Given the description of an element on the screen output the (x, y) to click on. 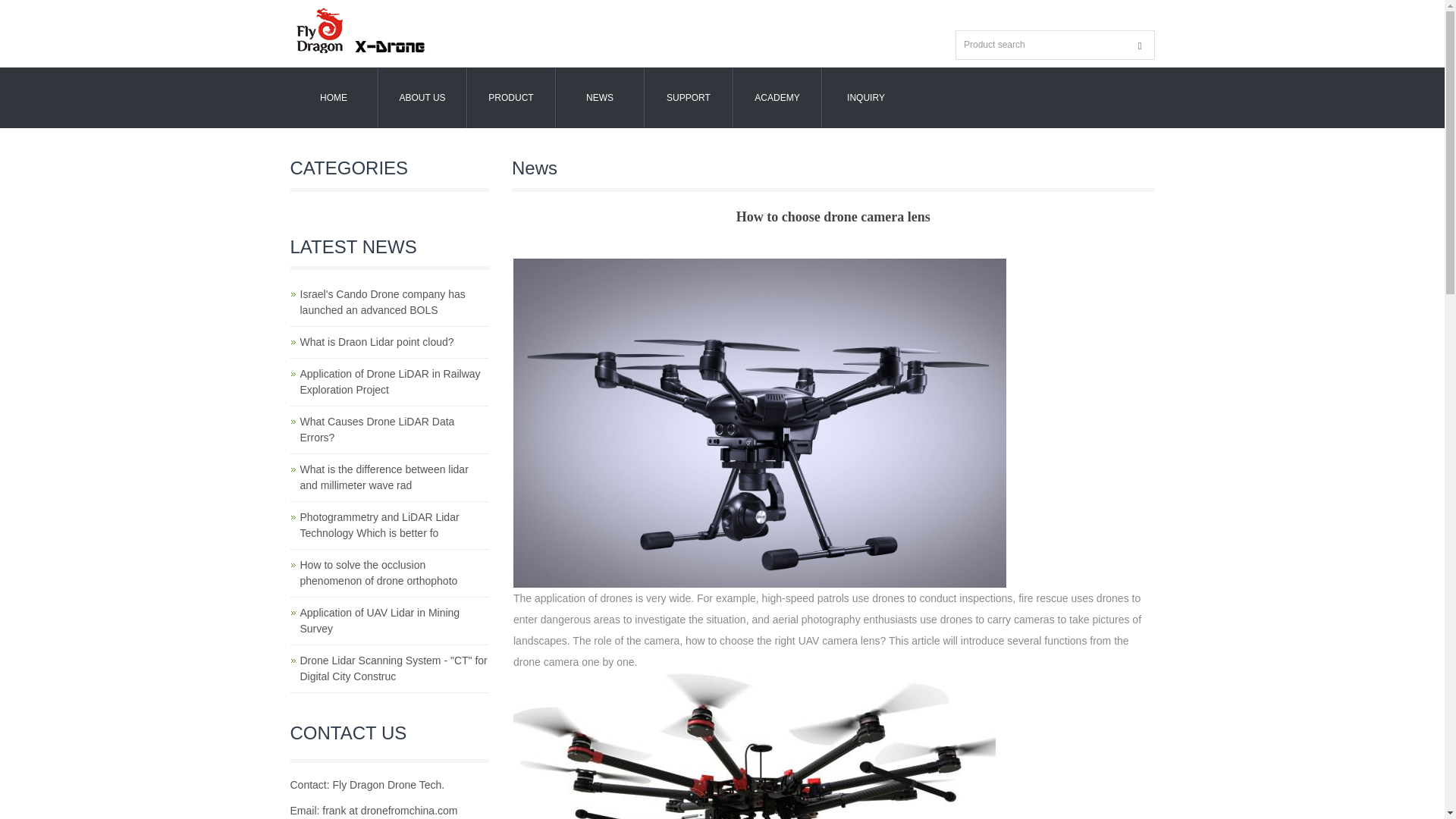
Application of Drone LiDAR in Railway Exploration Project (389, 381)
How to solve the occlusion phenomenon of drone orthophoto (378, 572)
INQUIRY (865, 97)
NEWS (599, 97)
ABOUT US (421, 97)
Application of UAV Lidar in Mining Survey (379, 620)
Product search (1139, 45)
What is Draon Lidar point cloud? (376, 341)
ACADEMY (777, 97)
